Given the description of an element on the screen output the (x, y) to click on. 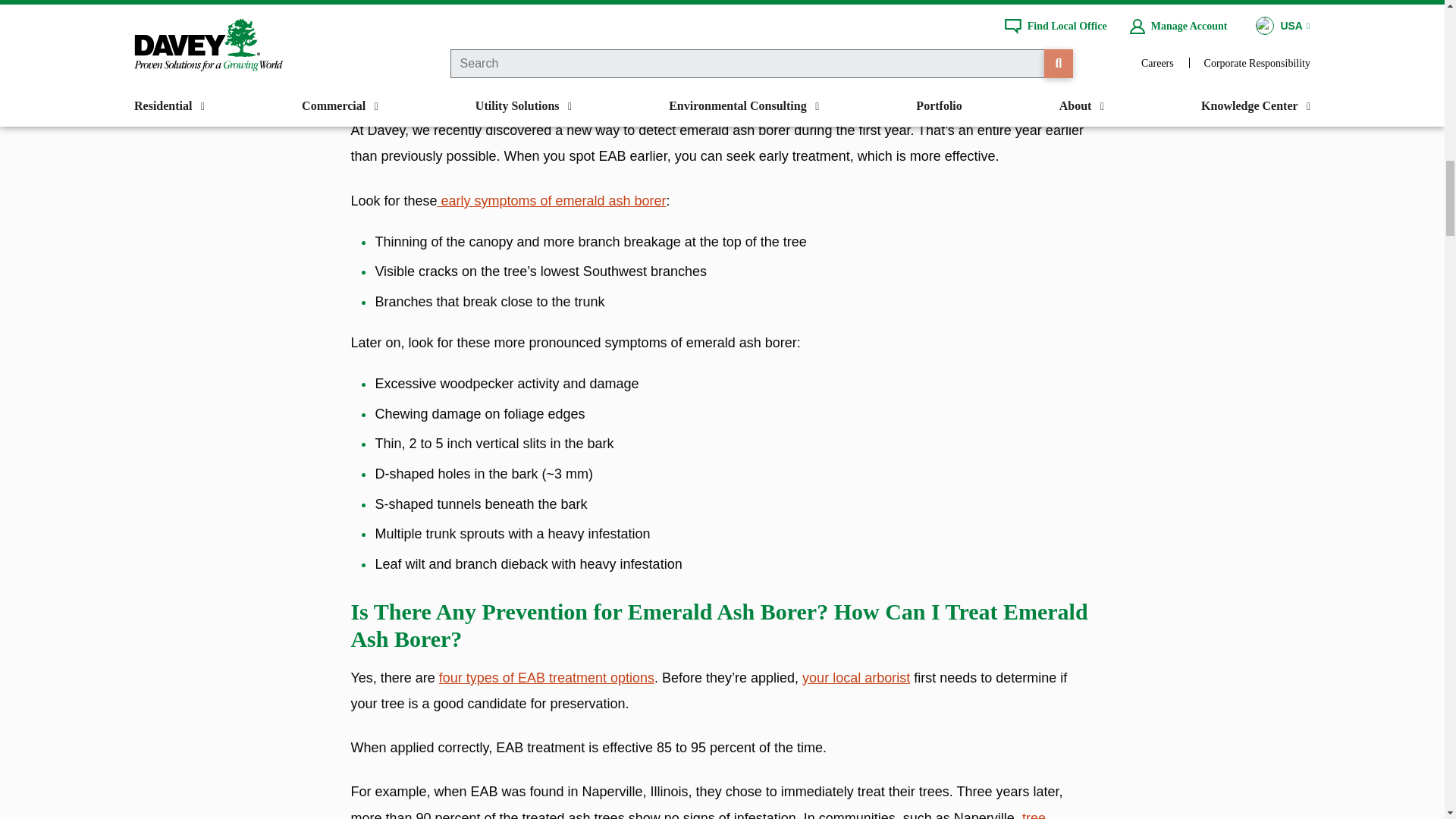
Does Emerald Ash Borer Treatment Work? (546, 677)
Tree Inventory Management (697, 814)
Protect Your Ash Trees: Spot the Early Signs of EAB (550, 200)
